Given the description of an element on the screen output the (x, y) to click on. 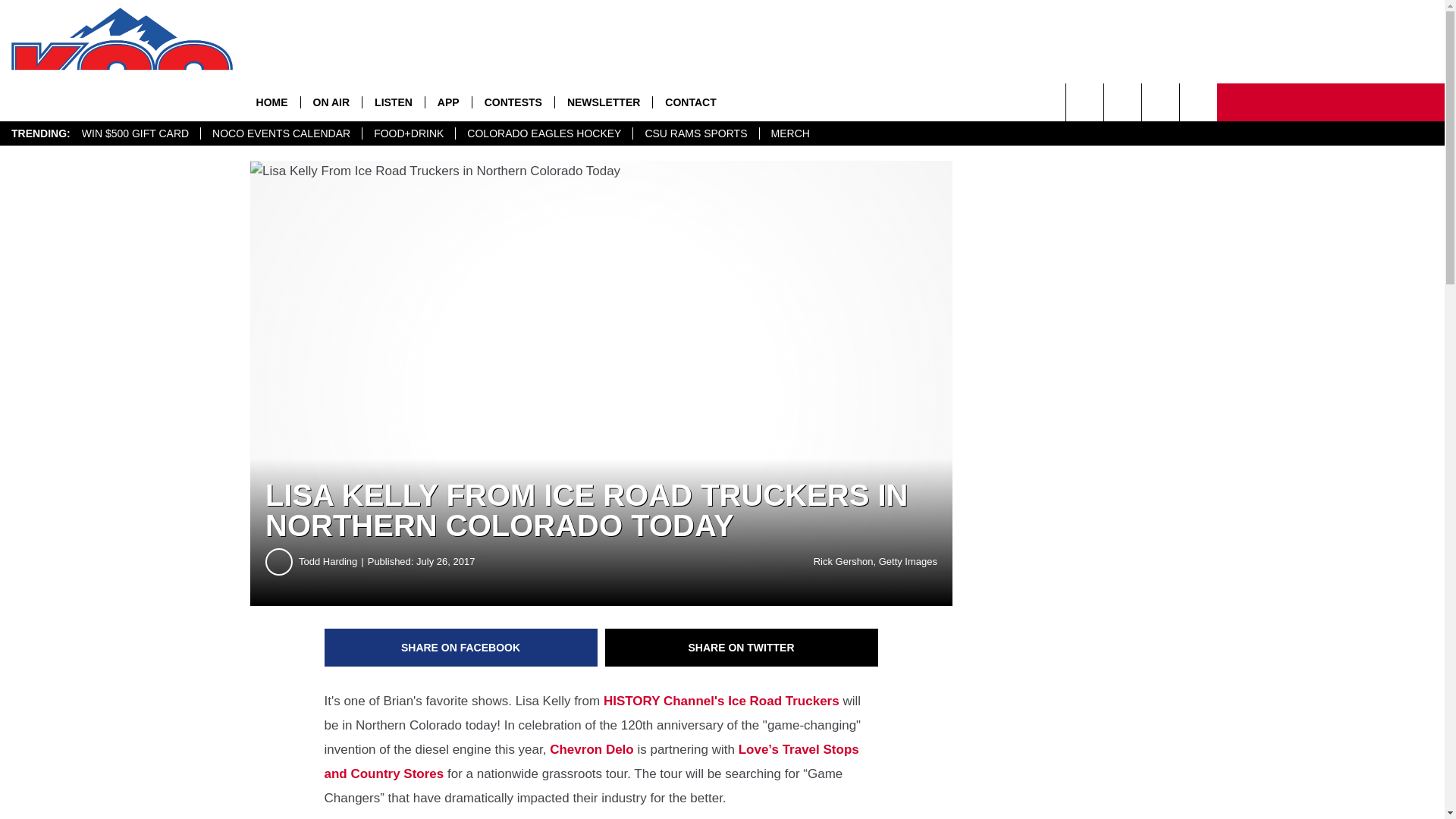
NEWSLETTER (603, 102)
NOCO EVENTS CALENDAR (280, 133)
Share on Twitter (741, 647)
APP (448, 102)
CSU RAMS SPORTS (694, 133)
MERCH (789, 133)
HOME (271, 102)
CONTACT (690, 102)
ON AIR (330, 102)
COLORADO EAGLES HOCKEY (542, 133)
LISTEN (393, 102)
CONTESTS (512, 102)
Share on Facebook (460, 647)
